Given the description of an element on the screen output the (x, y) to click on. 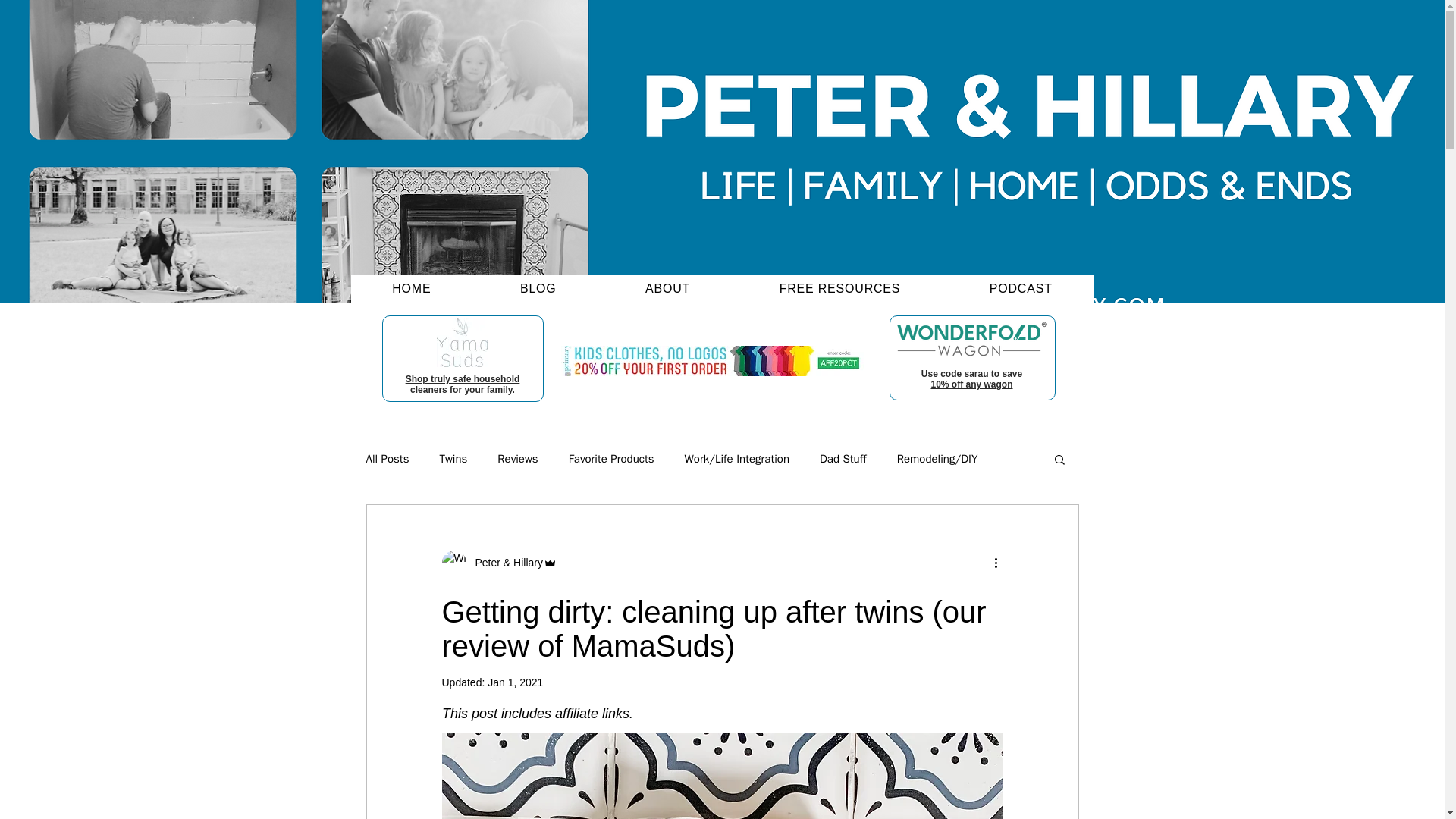
Dad Stuff (842, 459)
All Posts (387, 459)
Reviews (517, 459)
Jan 1, 2021 (515, 682)
PODCAST (1020, 288)
Twins (453, 459)
ABOUT (668, 288)
BLOG (537, 288)
Favorite Products (611, 459)
FREE RESOURCES (840, 288)
